Given the description of an element on the screen output the (x, y) to click on. 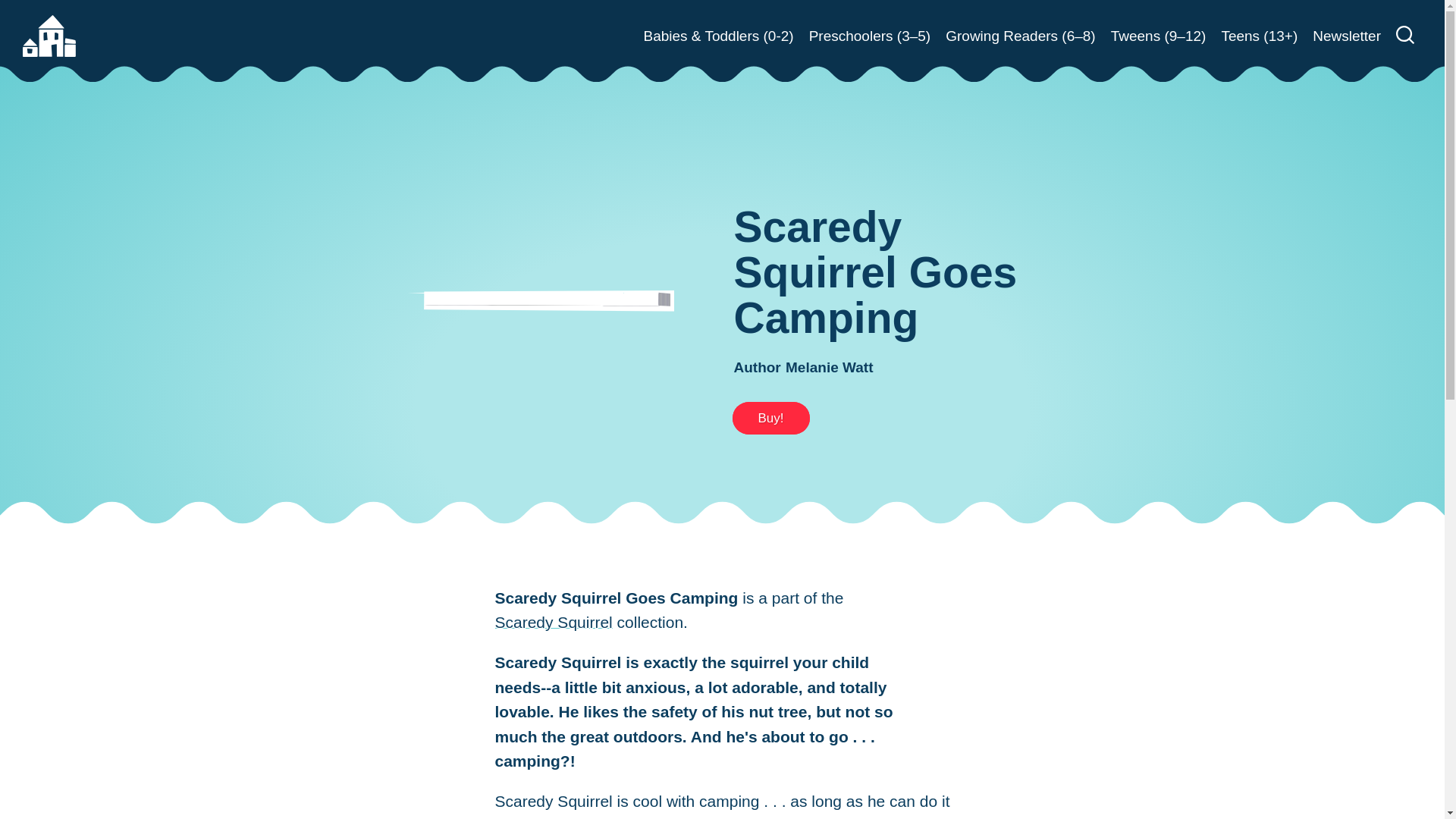
Home (49, 35)
Melanie Watt (828, 367)
Newsletter (1346, 36)
Buy! (770, 418)
